Given the description of an element on the screen output the (x, y) to click on. 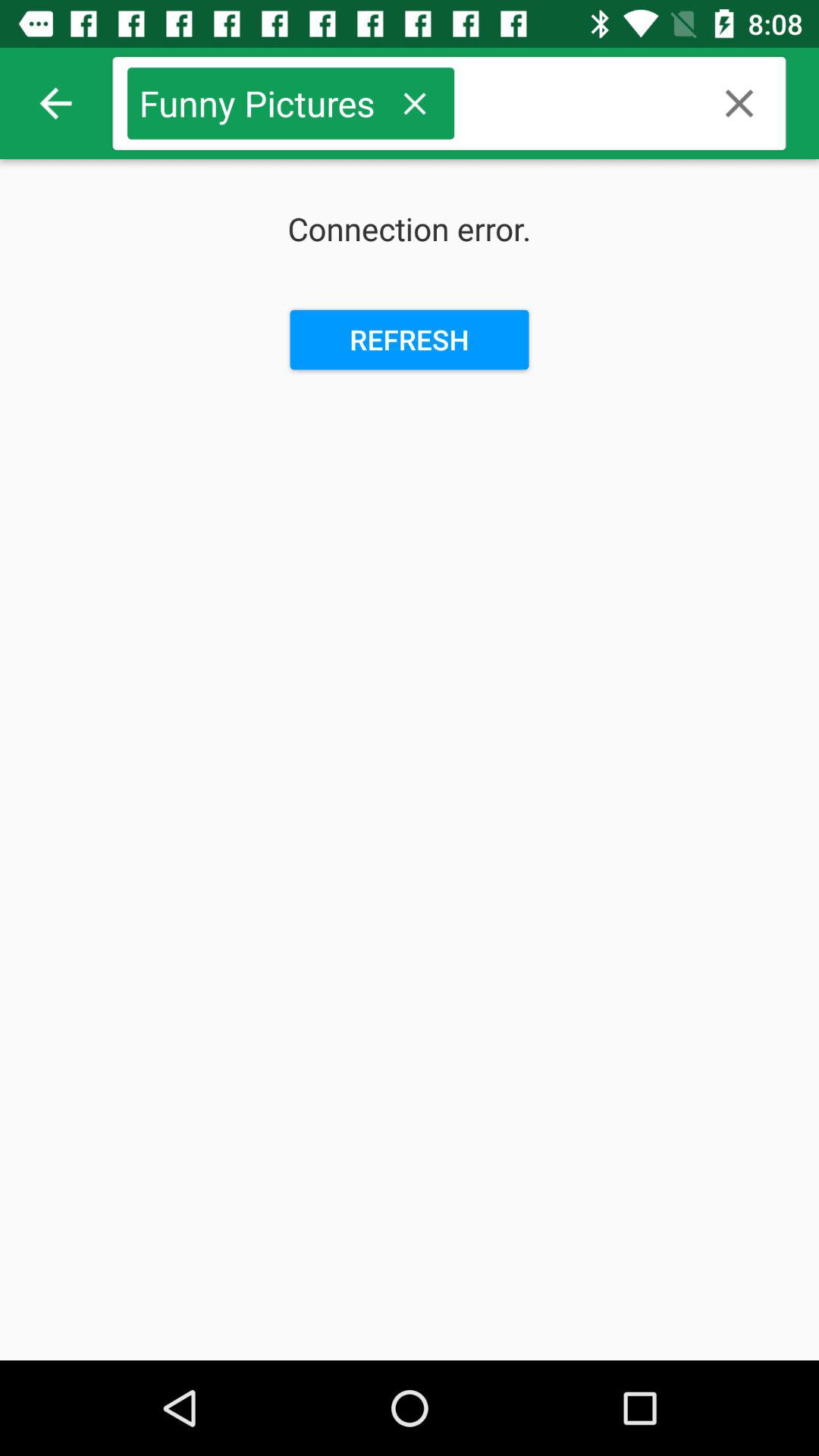
turn on icon below connection error. icon (409, 339)
